Given the description of an element on the screen output the (x, y) to click on. 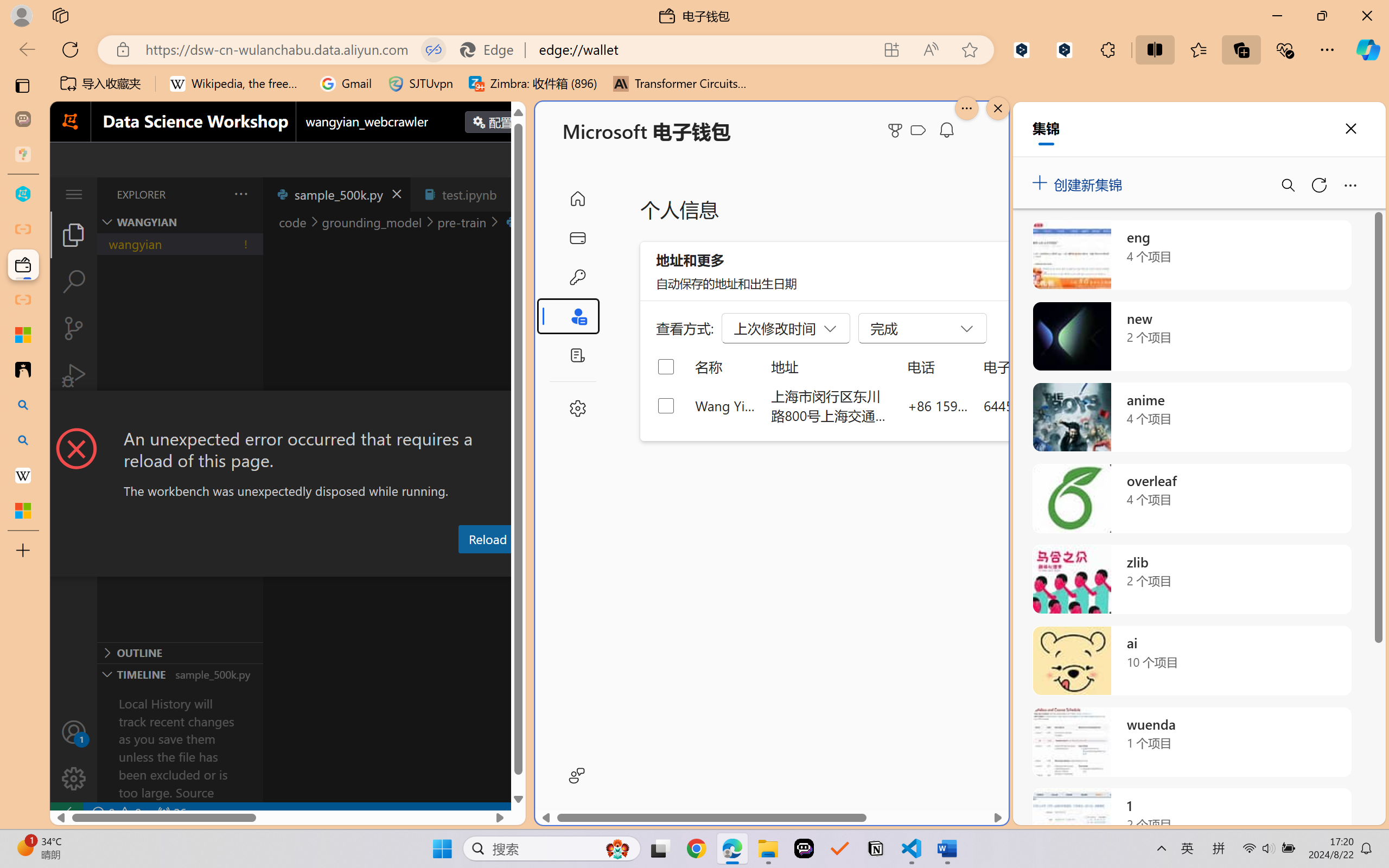
Terminal (Ctrl+`) (553, 565)
Views and More Actions... (240, 193)
Microsoft Rewards (896, 129)
